Given the description of an element on the screen output the (x, y) to click on. 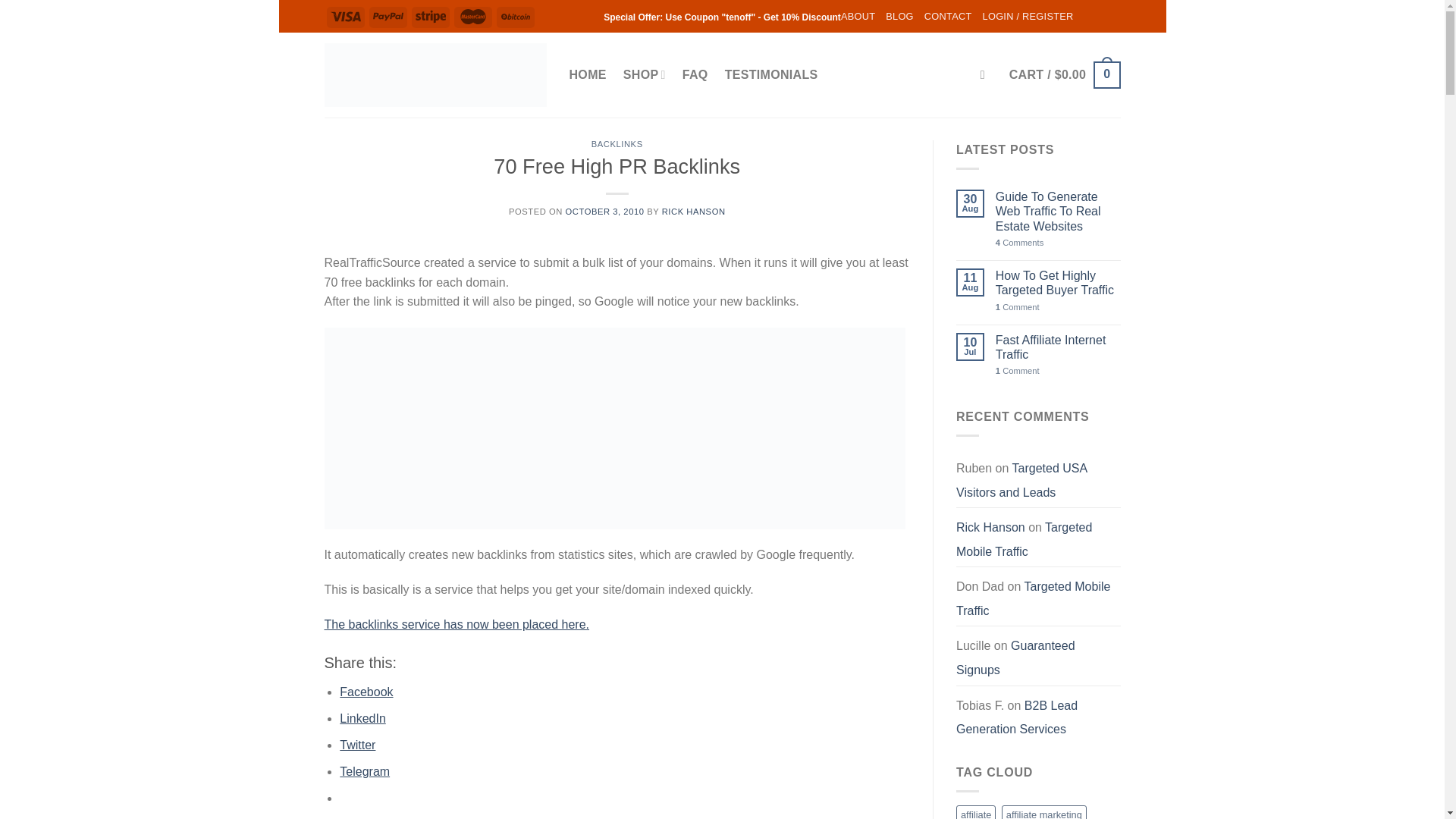
BACKLINKS (617, 143)
The backlinks service has now been placed here. (456, 624)
SHOP (644, 74)
Click to share on Telegram (364, 771)
Facebook (366, 691)
ABOUT (858, 16)
Click to share on Twitter (357, 744)
Twitter (357, 744)
Click to share on Facebook (366, 691)
HOME (587, 74)
